Given the description of an element on the screen output the (x, y) to click on. 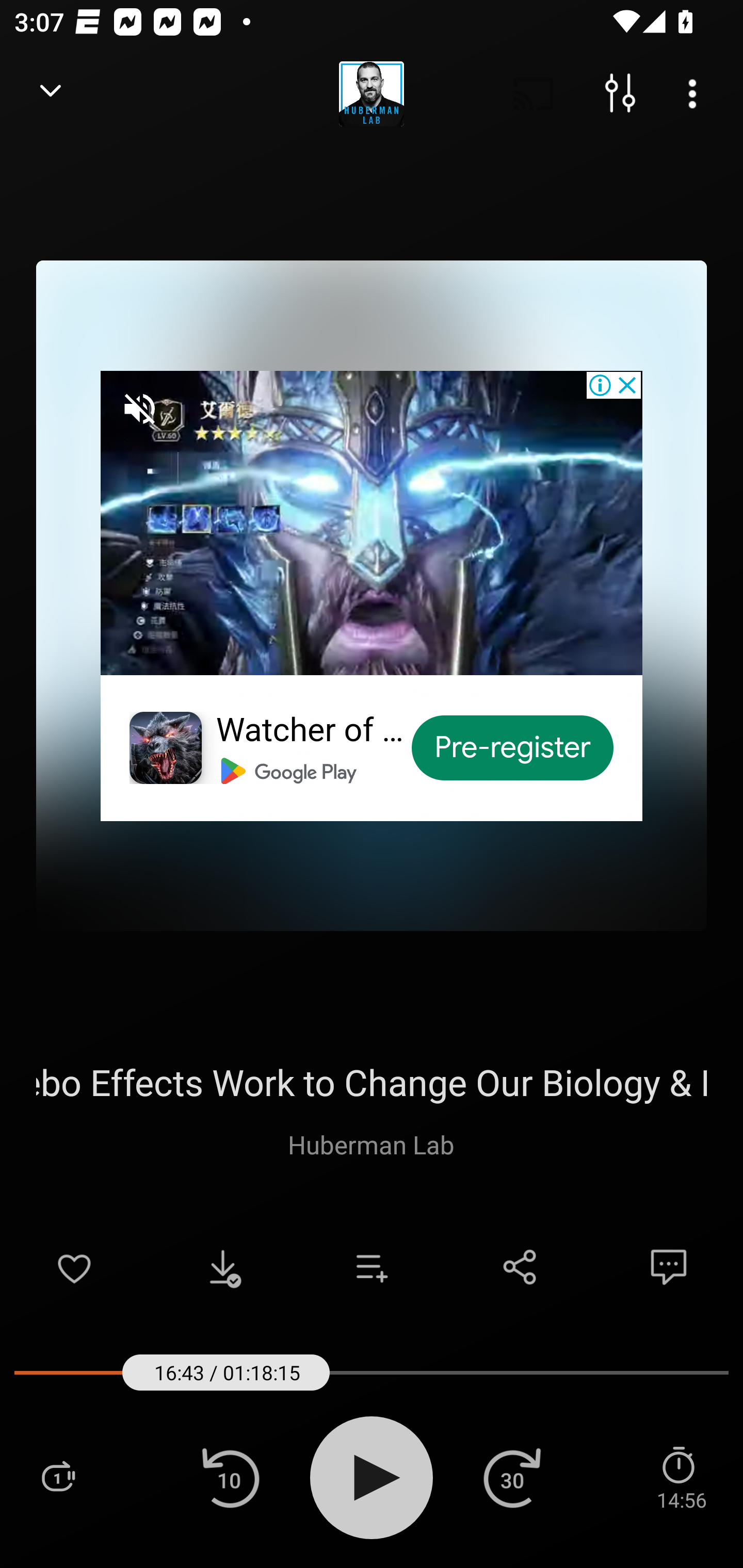
Cast. Disconnected (533, 93)
 Back (50, 94)
Watcher of … Pre-register Pre-register (371, 595)
Pre-register (512, 747)
Huberman Lab (370, 1144)
Comments (668, 1266)
Add to Favorites (73, 1266)
Add to playlist (371, 1266)
Share (519, 1266)
Sleep Timer  14:56 (681, 1477)
 Playlist (57, 1477)
